Given the description of an element on the screen output the (x, y) to click on. 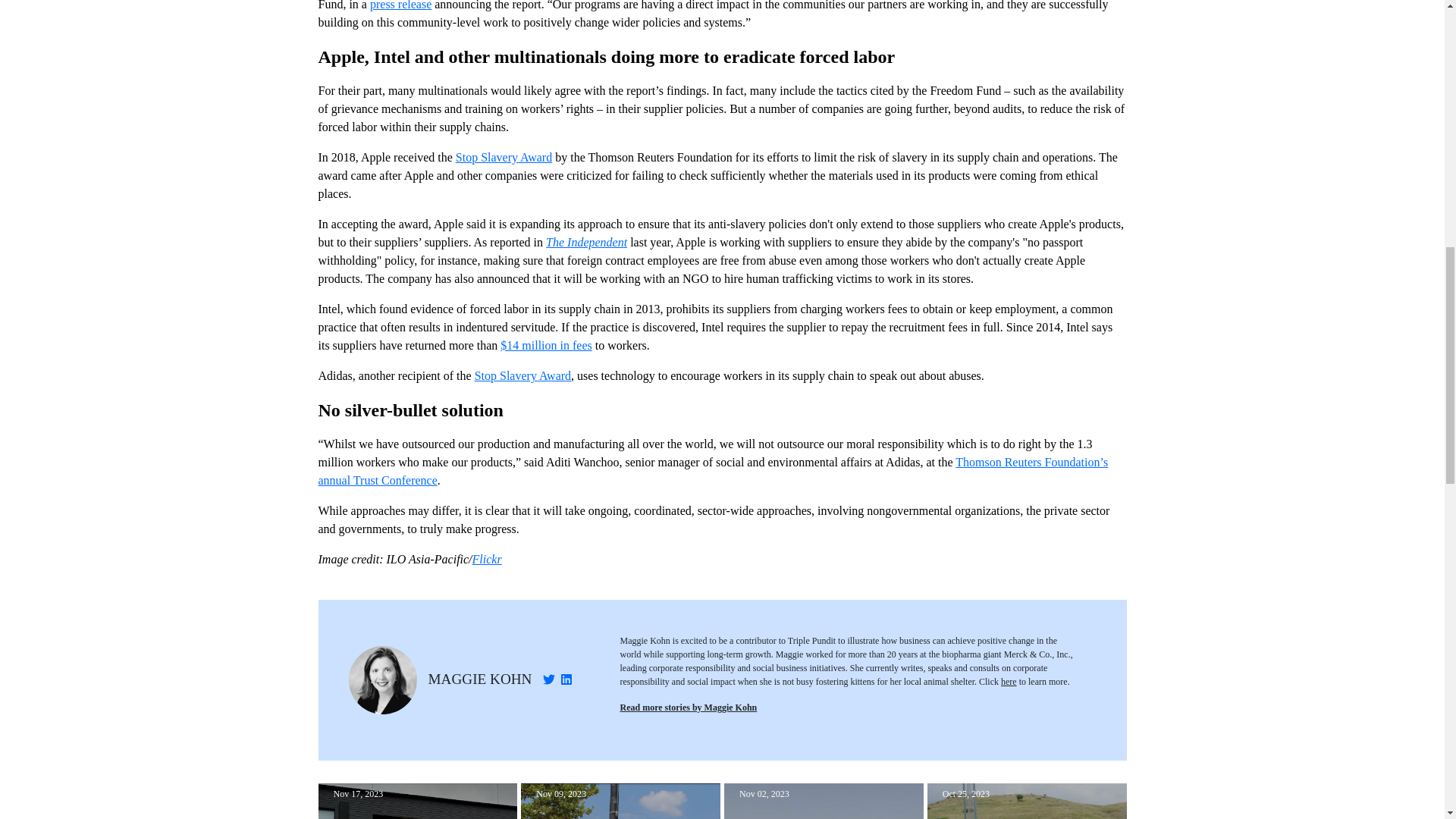
Stop Slavery Award (503, 156)
The Independent (586, 241)
Maggie Kohn author page (479, 678)
Maggie Kohn author page (688, 706)
Flickr (486, 558)
Stop Slavery Award (522, 375)
press release (399, 5)
